Given the description of an element on the screen output the (x, y) to click on. 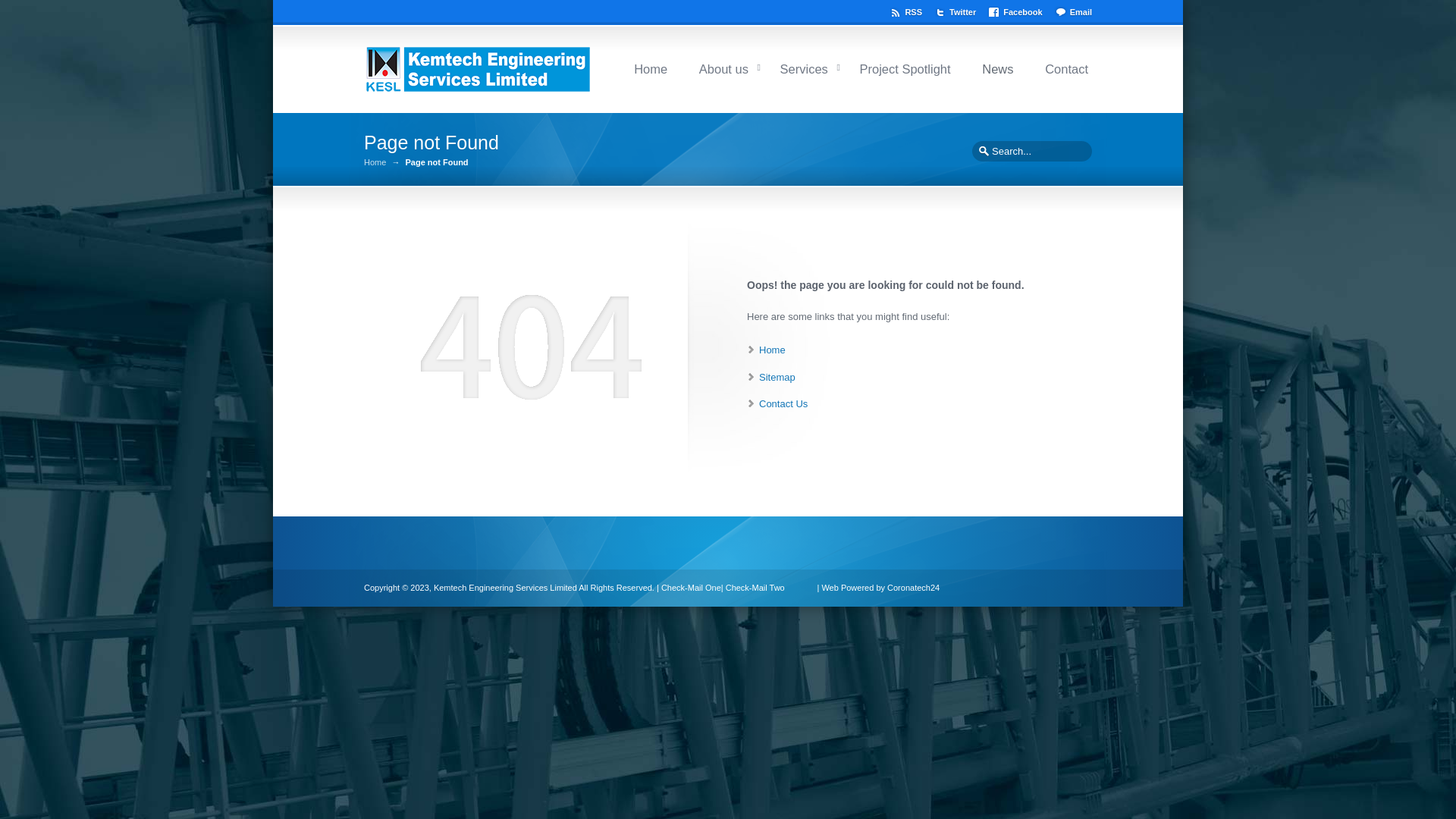
Email (1072, 10)
Twitter (957, 10)
Contact (1066, 67)
Services (803, 67)
About us (723, 67)
RSS (908, 10)
News (997, 67)
Search... (1030, 151)
Home (650, 67)
Home (374, 162)
Project Spotlight (904, 67)
Home (772, 349)
Facebook (1017, 10)
